Given the description of an element on the screen output the (x, y) to click on. 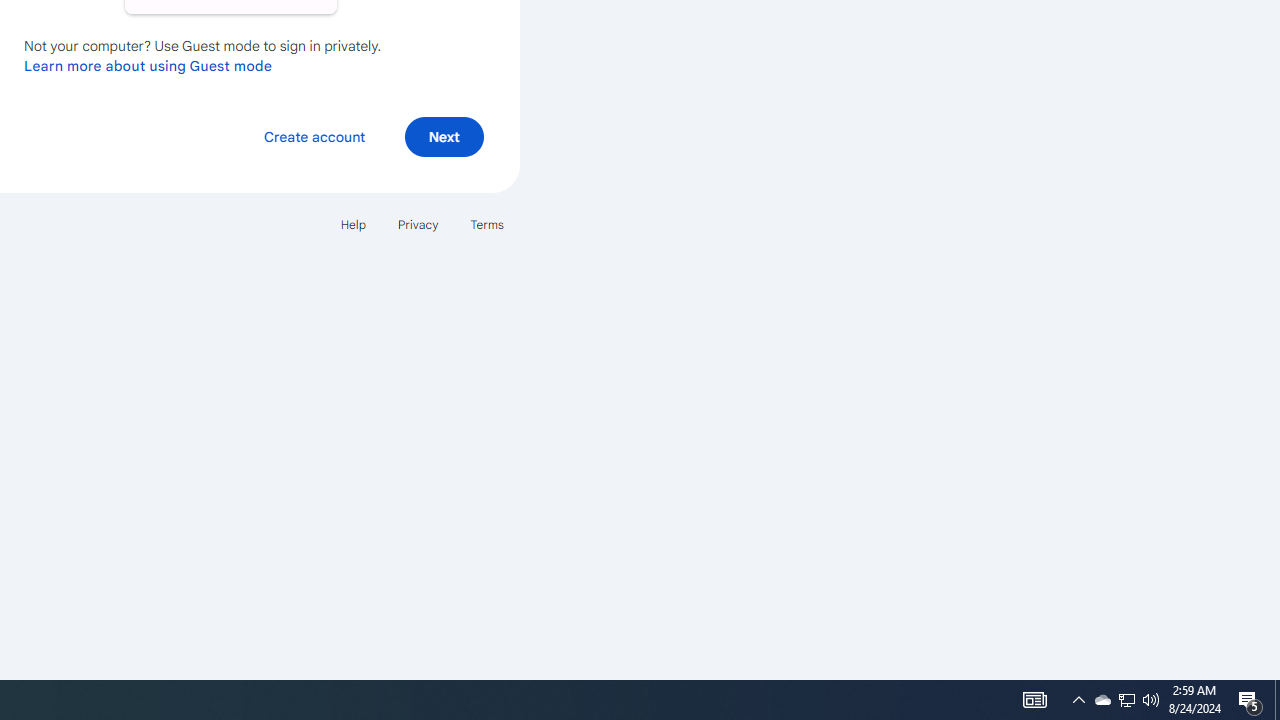
Create account (314, 135)
Learn more about using Guest mode (148, 65)
